Given the description of an element on the screen output the (x, y) to click on. 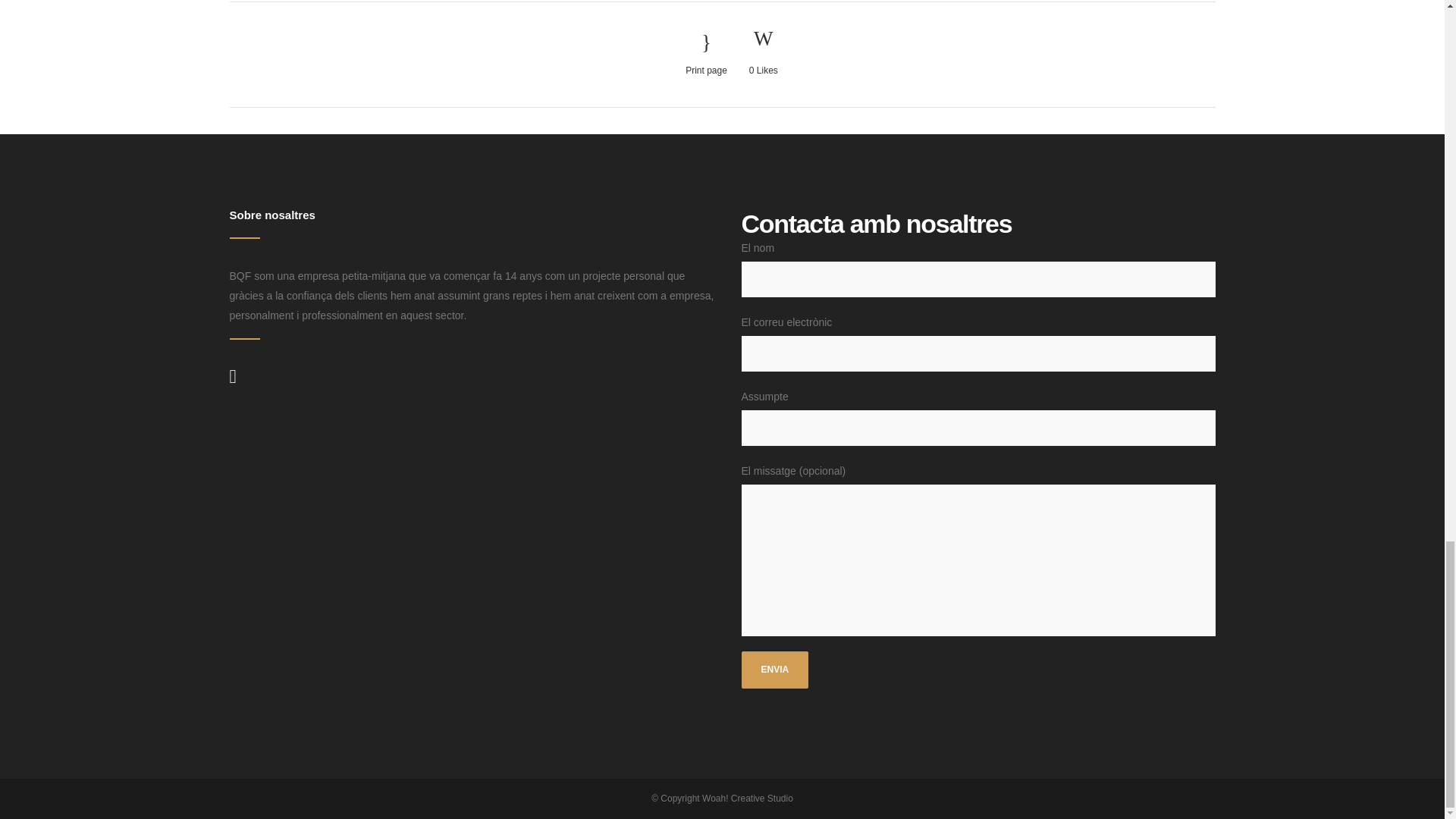
Print page (705, 54)
Woah! Creative Studio (747, 798)
Like this (763, 54)
Envia (775, 669)
Envia (775, 669)
0 Likes (763, 54)
